Given the description of an element on the screen output the (x, y) to click on. 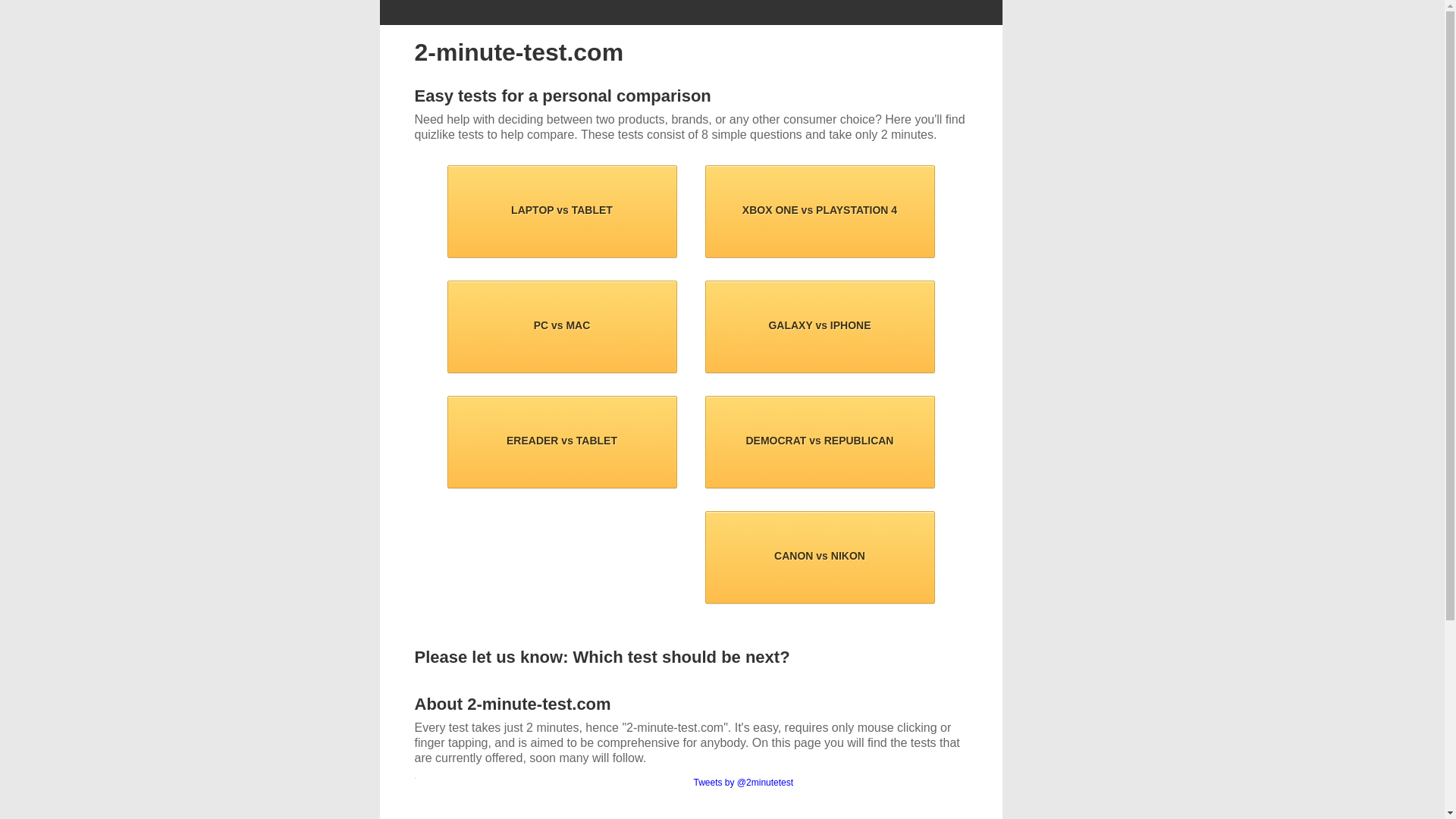
DEMOCRAT vs REPUBLICAN Element type: text (820, 441)
CANON vs NIKON Element type: text (820, 557)
GALAXY vs IPHONE Element type: text (820, 326)
Tweets by @2minutetest Element type: text (743, 782)
EREADER vs TABLET Element type: text (562, 441)
XBOX ONE vs PLAYSTATION 4 Element type: text (820, 211)
LAPTOP vs TABLET Element type: text (562, 211)
PC vs MAC Element type: text (562, 326)
